Given the description of an element on the screen output the (x, y) to click on. 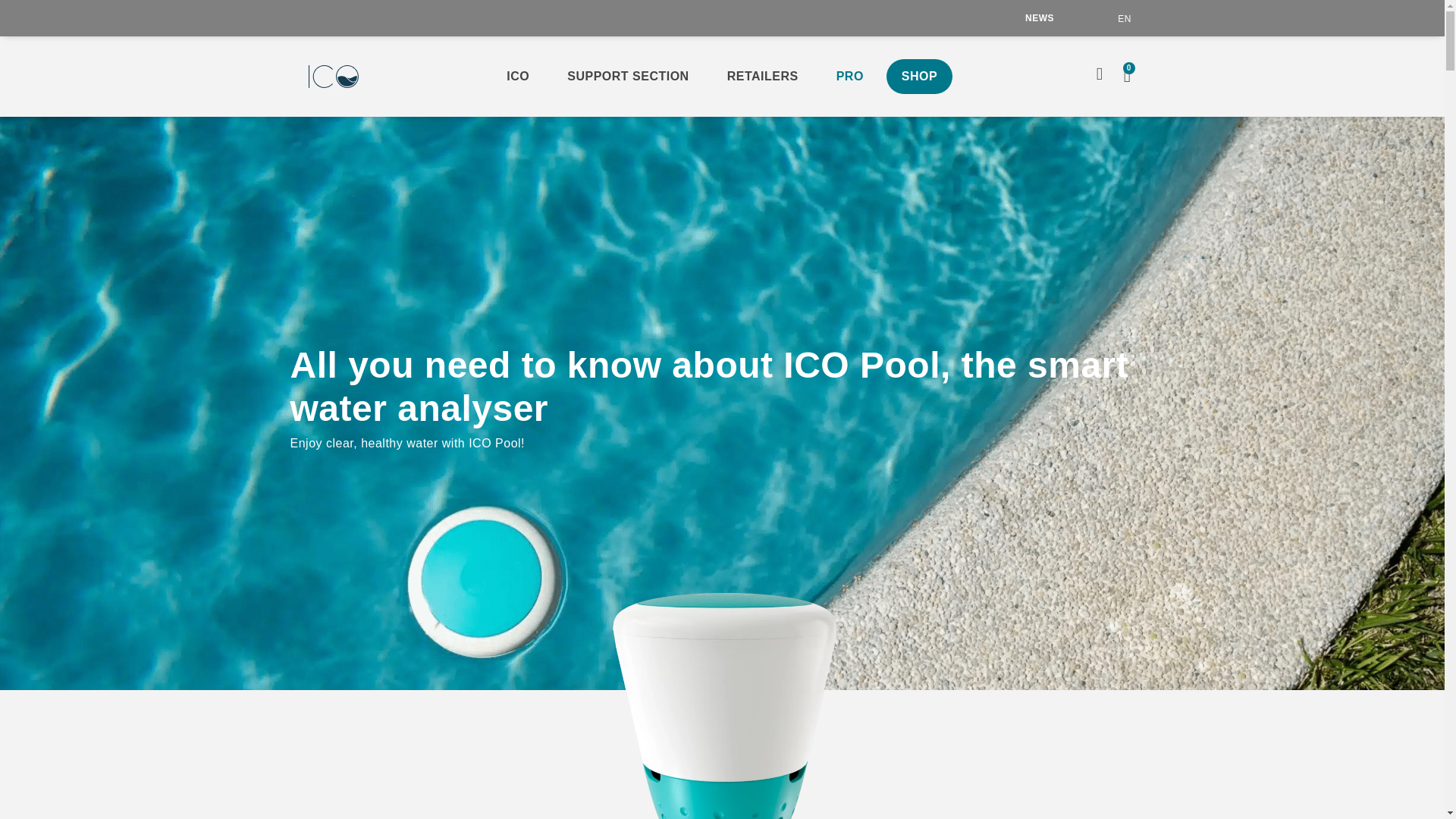
EN (1124, 18)
SUPPORT SECTION (627, 76)
SHOP (919, 76)
NEWS (1039, 18)
ICO (518, 76)
PRO (850, 76)
RETAILERS (762, 76)
